Given the description of an element on the screen output the (x, y) to click on. 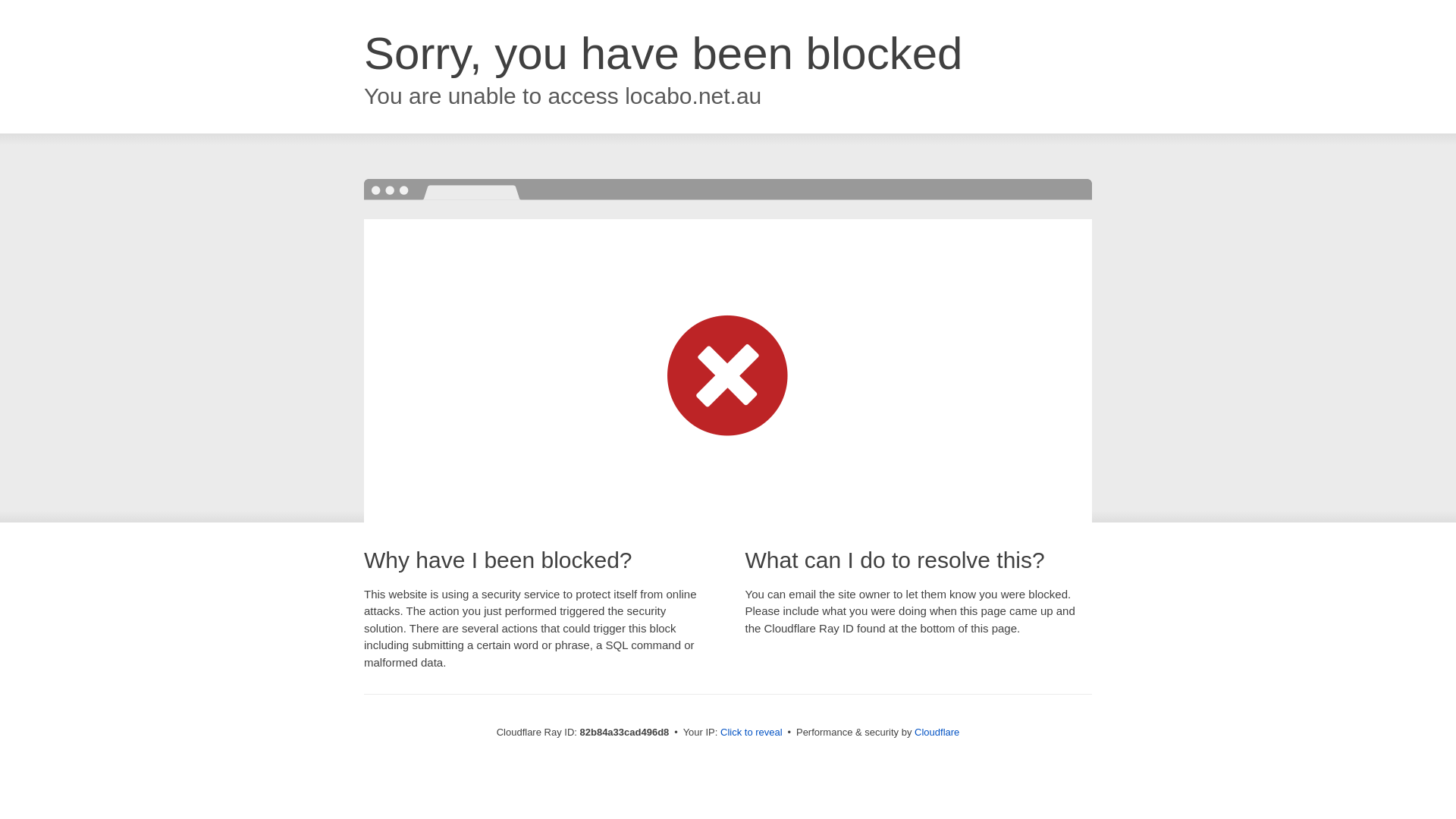
Click to reveal Element type: text (751, 732)
Cloudflare Element type: text (936, 731)
